Given the description of an element on the screen output the (x, y) to click on. 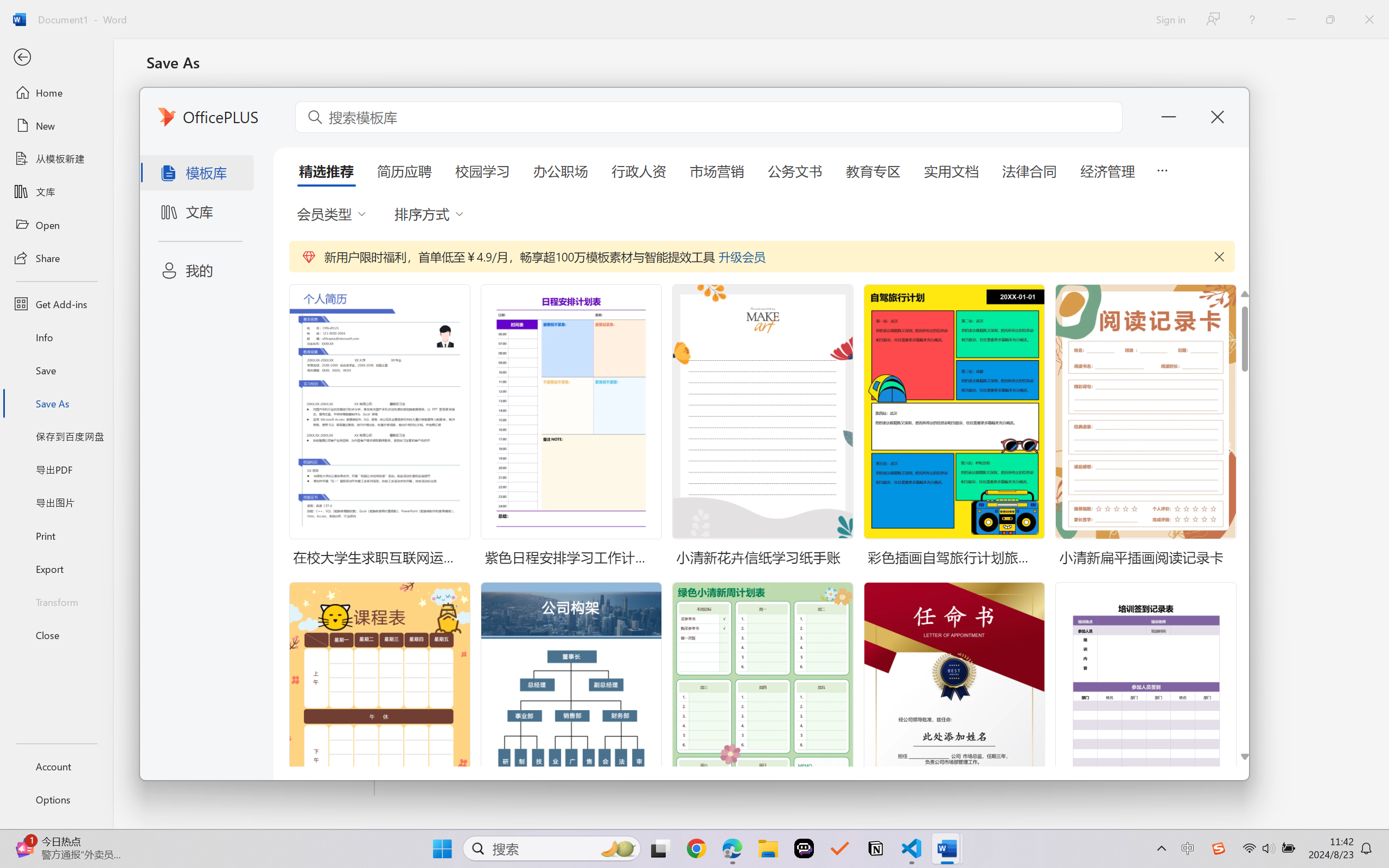
Transform (56, 601)
New (56, 125)
5 more tabs (1161, 169)
